Given the description of an element on the screen output the (x, y) to click on. 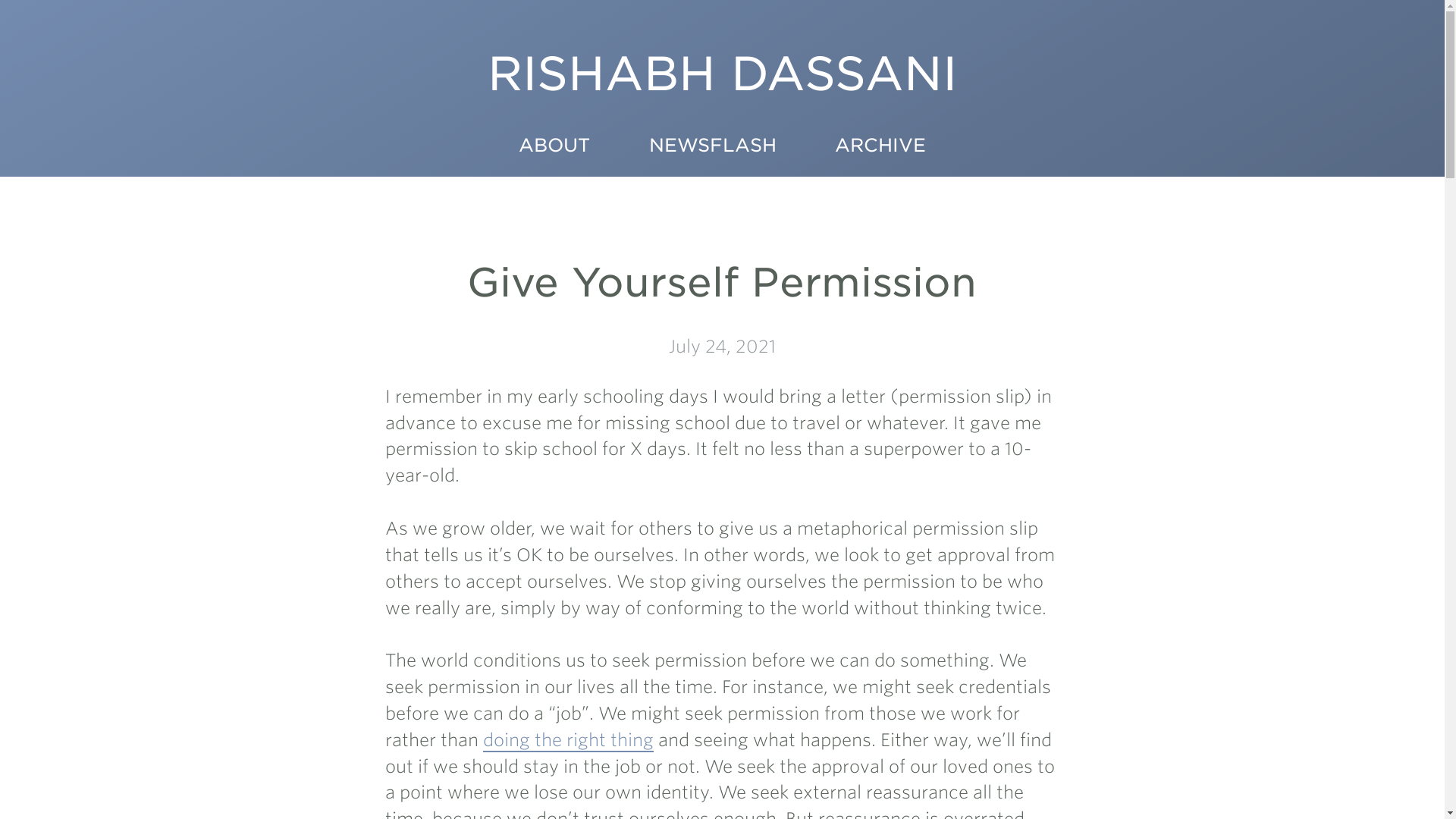
ARCHIVE (880, 148)
RISHABH DASSANI (721, 89)
NEWSFLASH (712, 148)
doing the right thing (568, 740)
ABOUT (553, 148)
